Given the description of an element on the screen output the (x, y) to click on. 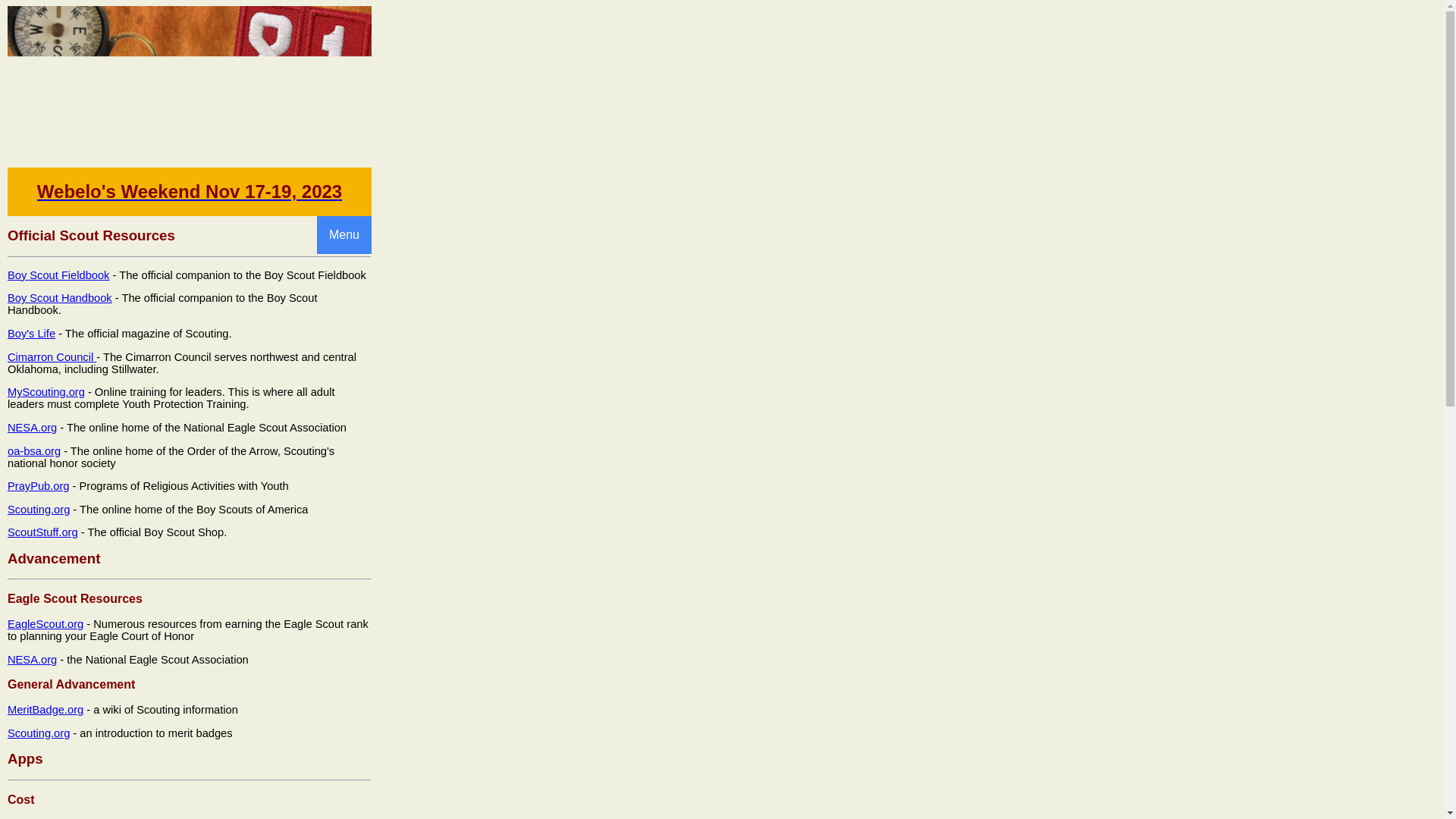
oa-bsa.org (34, 451)
Boy Scout Handbook (59, 297)
Cimarron Council (51, 357)
NESA.org (31, 659)
PrayPub.org (37, 485)
Boy's Life (31, 333)
Scouting.org (38, 733)
Boy Scout Fieldbook (58, 275)
Scouting.org (38, 509)
MeritBadge.org (44, 709)
